Given the description of an element on the screen output the (x, y) to click on. 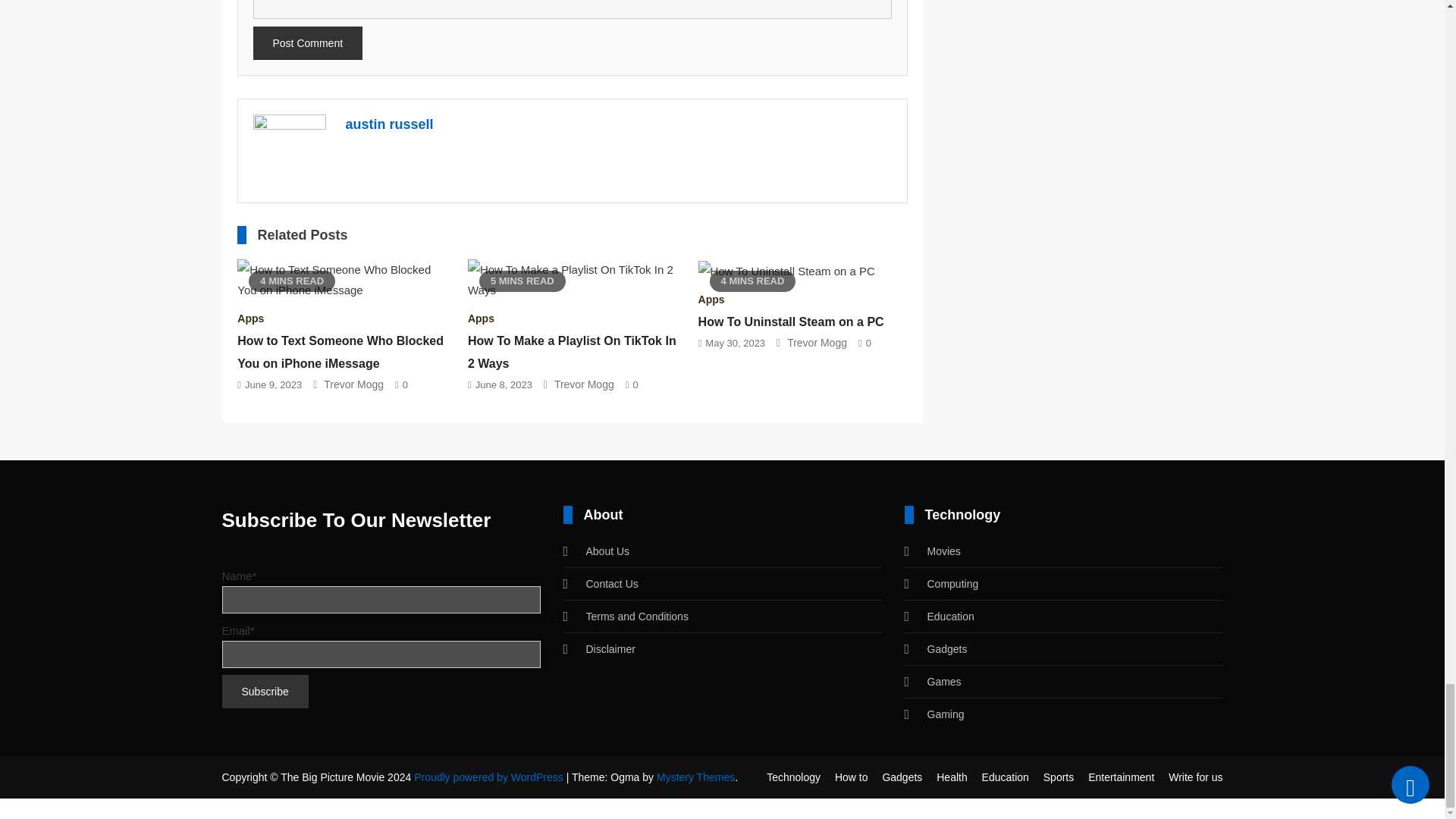
Subscribe (264, 691)
Posts by austin russell (389, 124)
Post Comment (307, 42)
